Given the description of an element on the screen output the (x, y) to click on. 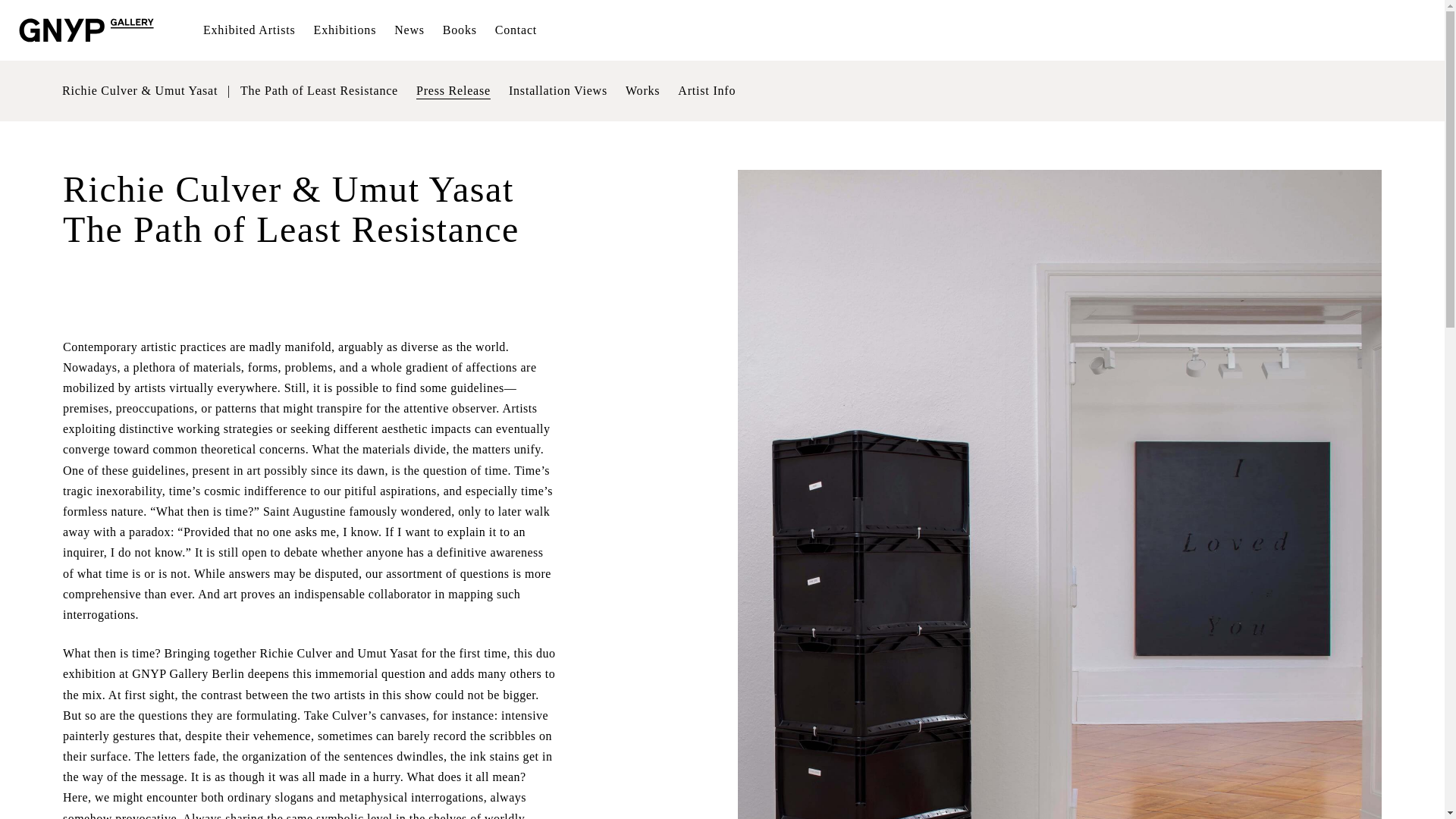
Exhibitions (345, 29)
Books (459, 29)
Exhibited Artists (249, 29)
Works (642, 90)
Installation Views (557, 90)
Contact (516, 29)
Press Release (453, 90)
Artist Info (706, 90)
News (409, 29)
